Given the description of an element on the screen output the (x, y) to click on. 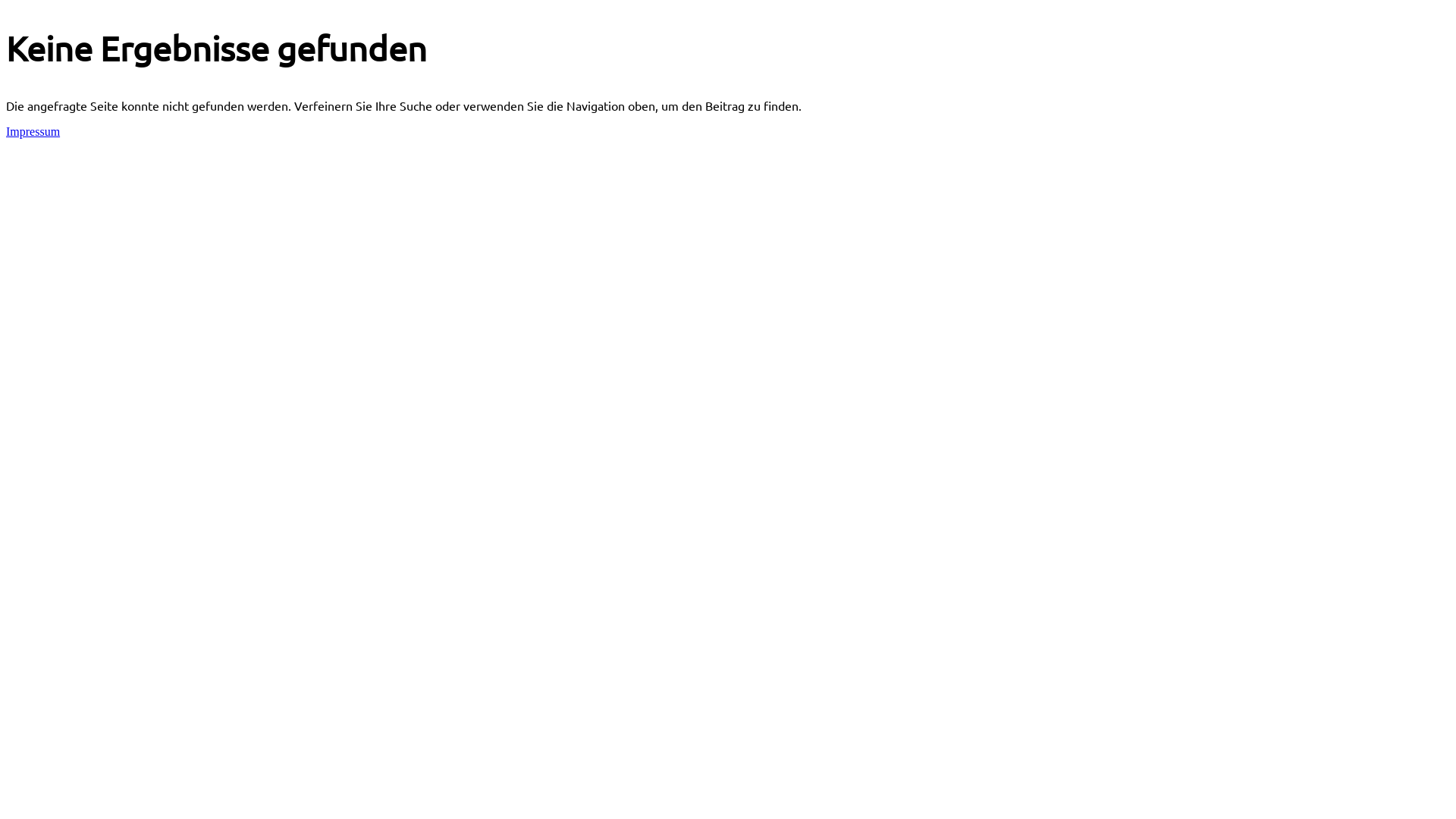
Impressum Element type: text (32, 131)
